Given the description of an element on the screen output the (x, y) to click on. 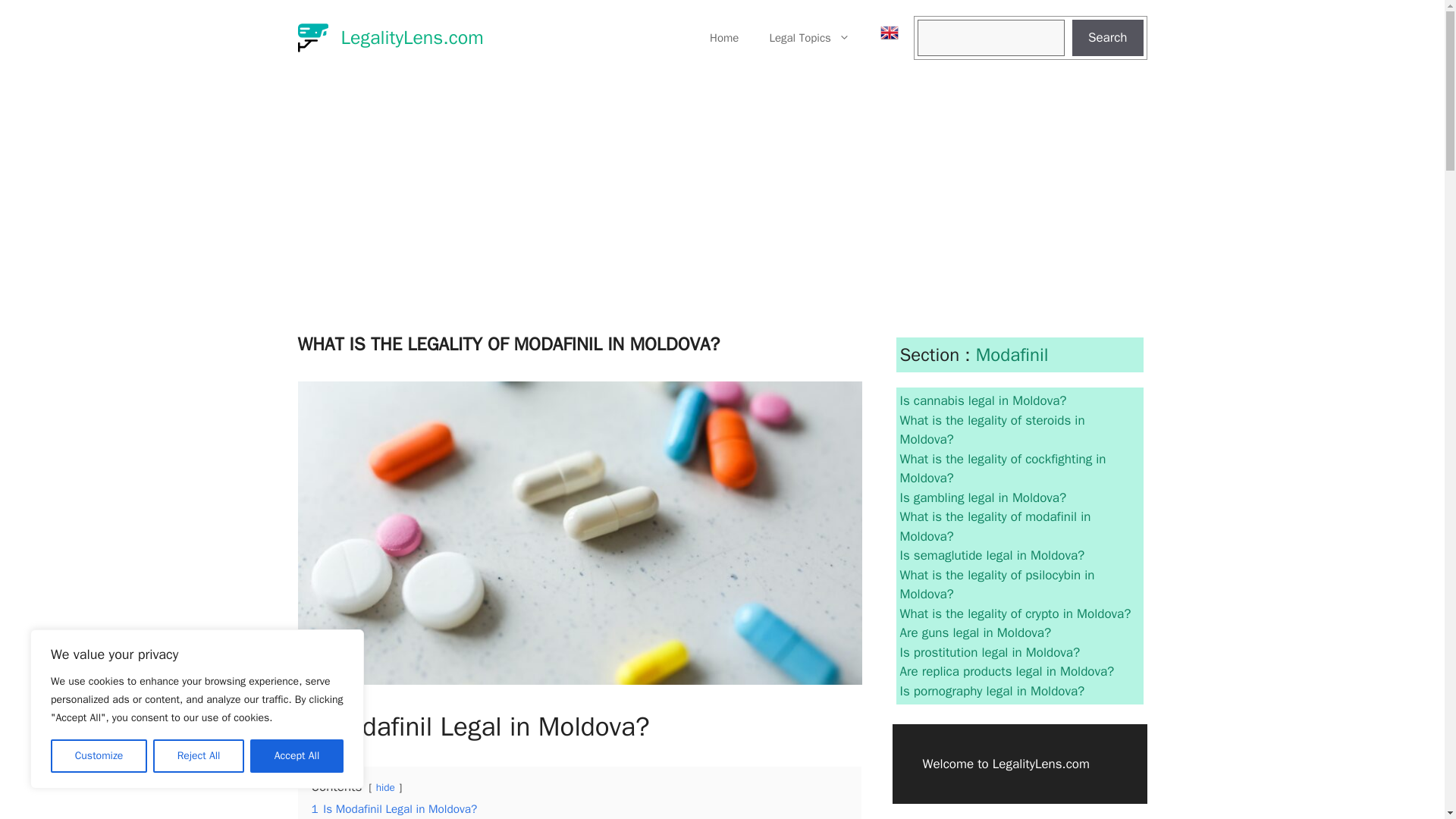
Customize (98, 756)
Legal Topics (809, 37)
hide (384, 787)
Home (724, 37)
Search (1106, 37)
Accept All (296, 756)
1 Is Modafinil Legal in Moldova? (394, 808)
Reject All (198, 756)
LegalityLens.com (411, 37)
